Given the description of an element on the screen output the (x, y) to click on. 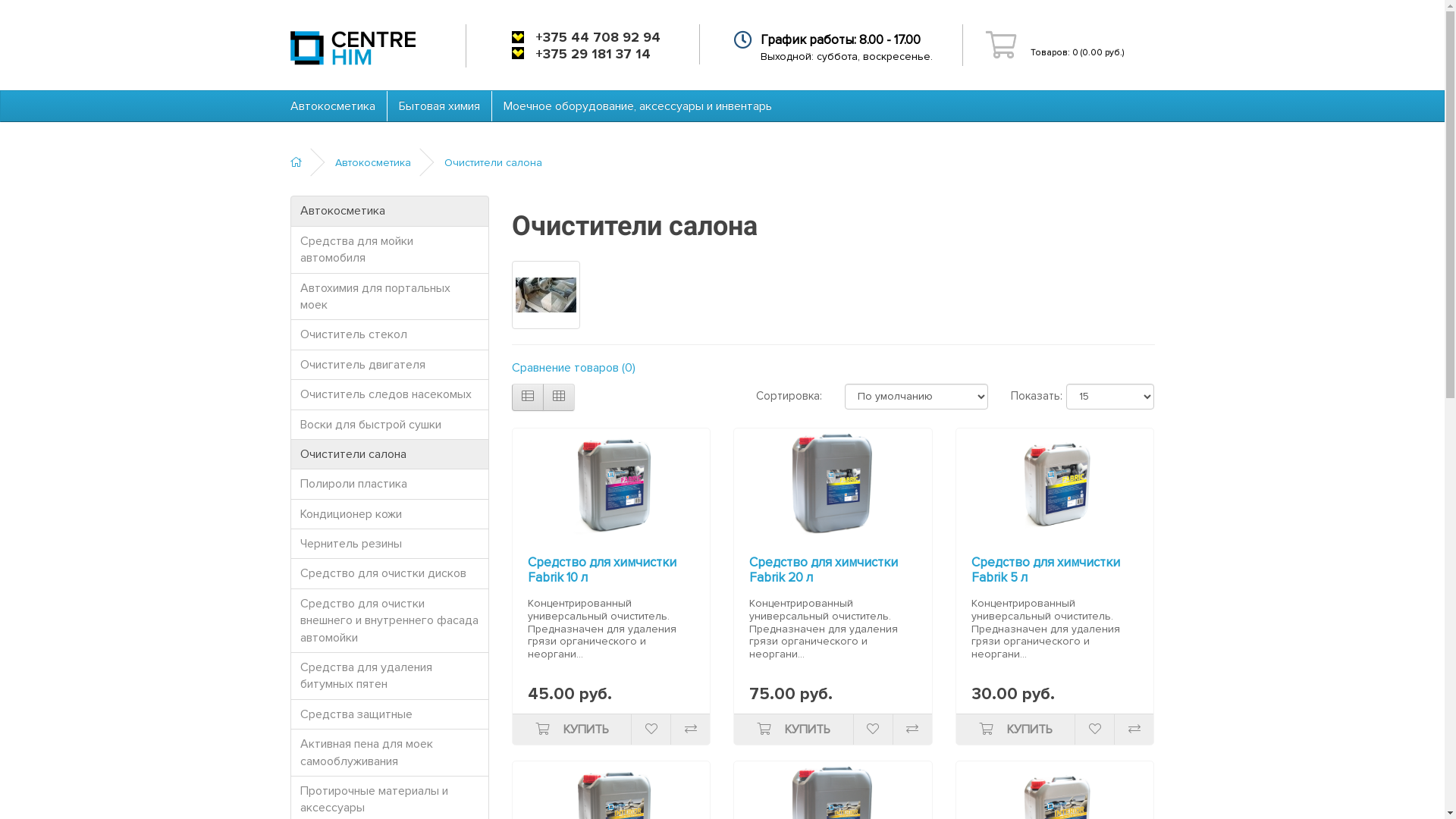
+375 44 708 92 94 Element type: text (597, 36)
+375 29 181 37 14 Element type: text (592, 53)
